Given the description of an element on the screen output the (x, y) to click on. 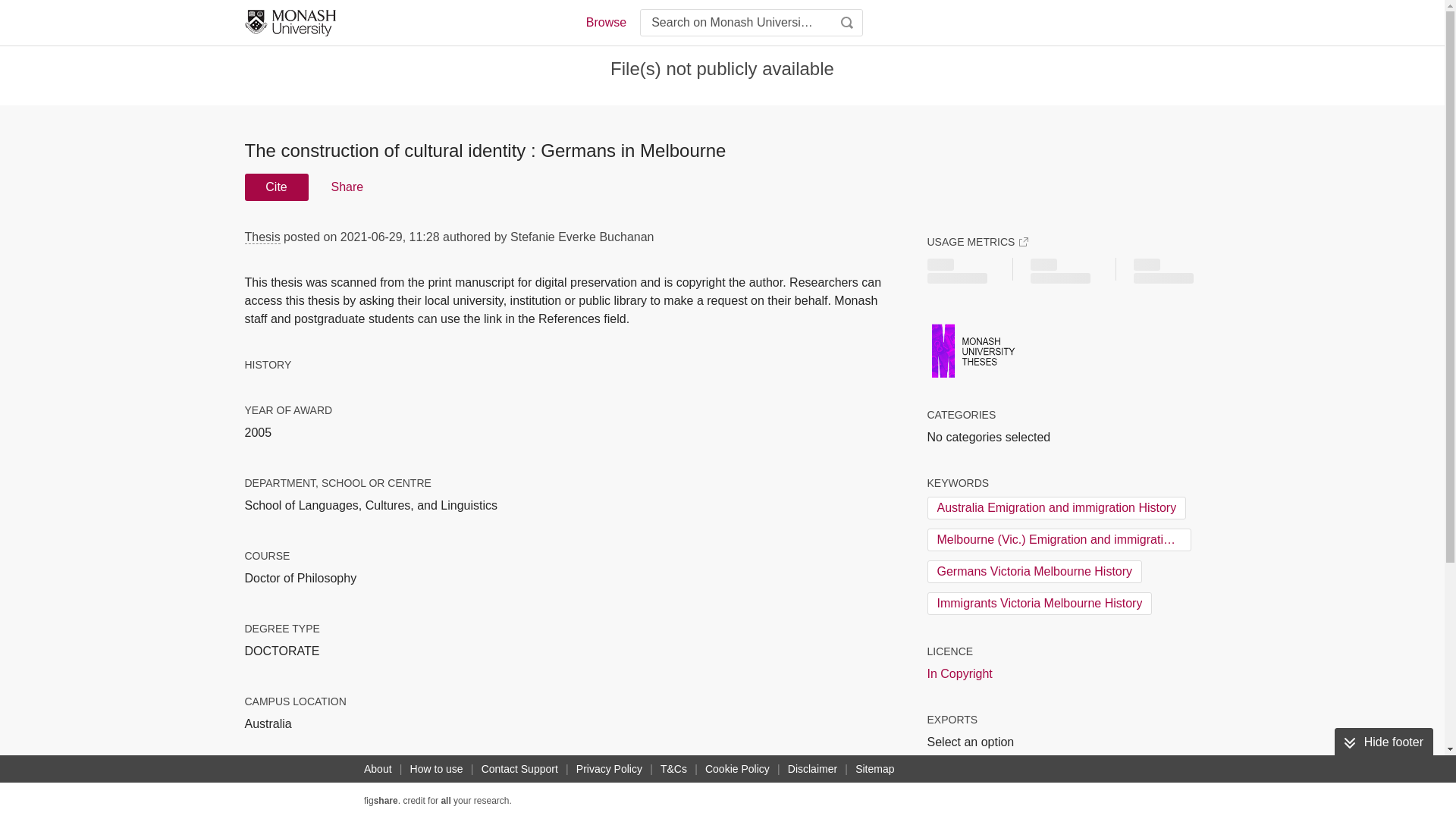
How to use (436, 769)
Share (346, 186)
Privacy Policy (609, 769)
Cite (275, 186)
In Copyright (958, 674)
Germans Victoria Melbourne History (1033, 571)
Disclaimer (812, 769)
USAGE METRICS (976, 241)
Immigrants Victoria Melbourne History (1038, 603)
Browse (605, 22)
